Given the description of an element on the screen output the (x, y) to click on. 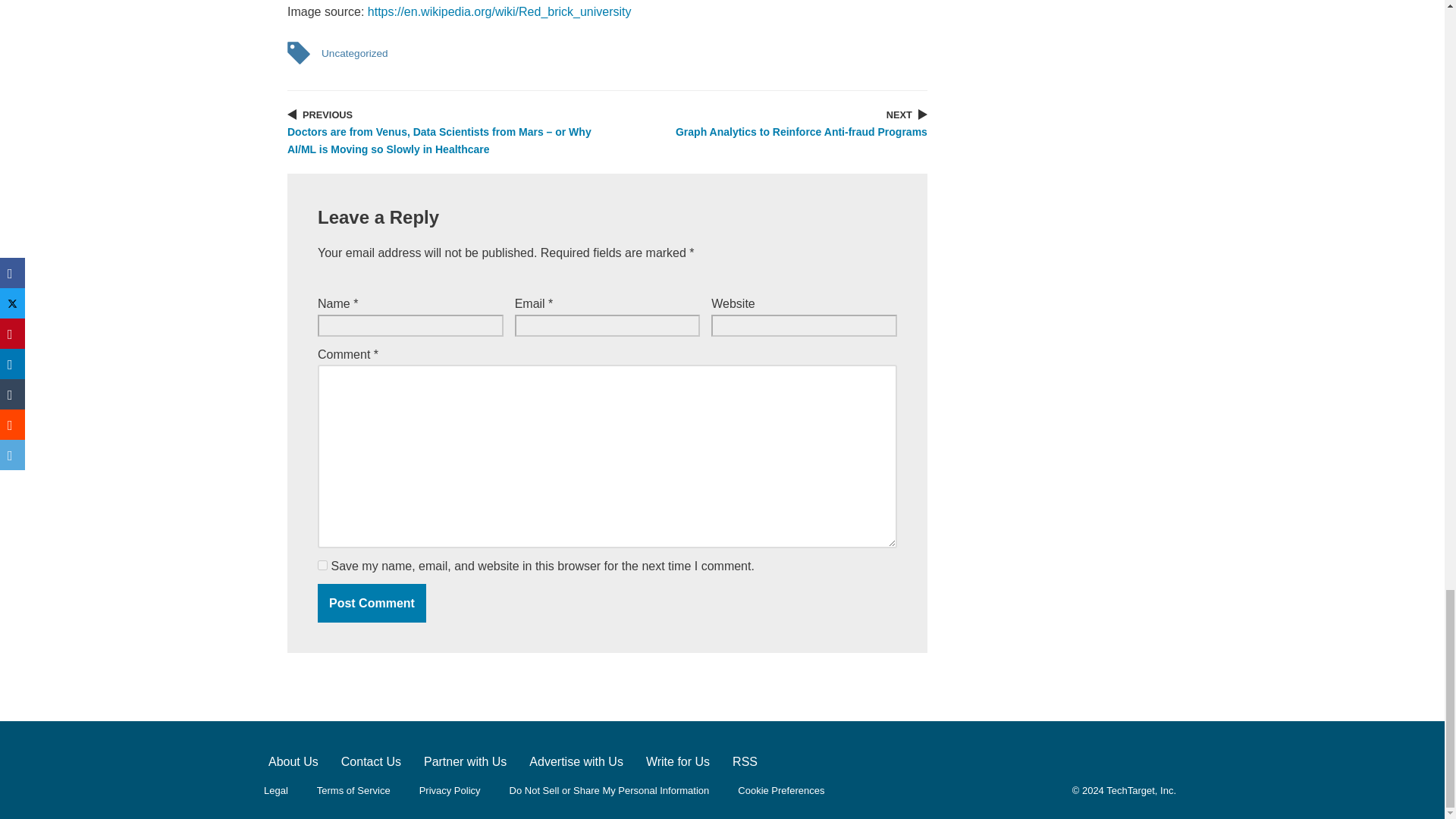
Uncategorized (354, 53)
yes (322, 565)
Post Comment (371, 603)
